Given the description of an element on the screen output the (x, y) to click on. 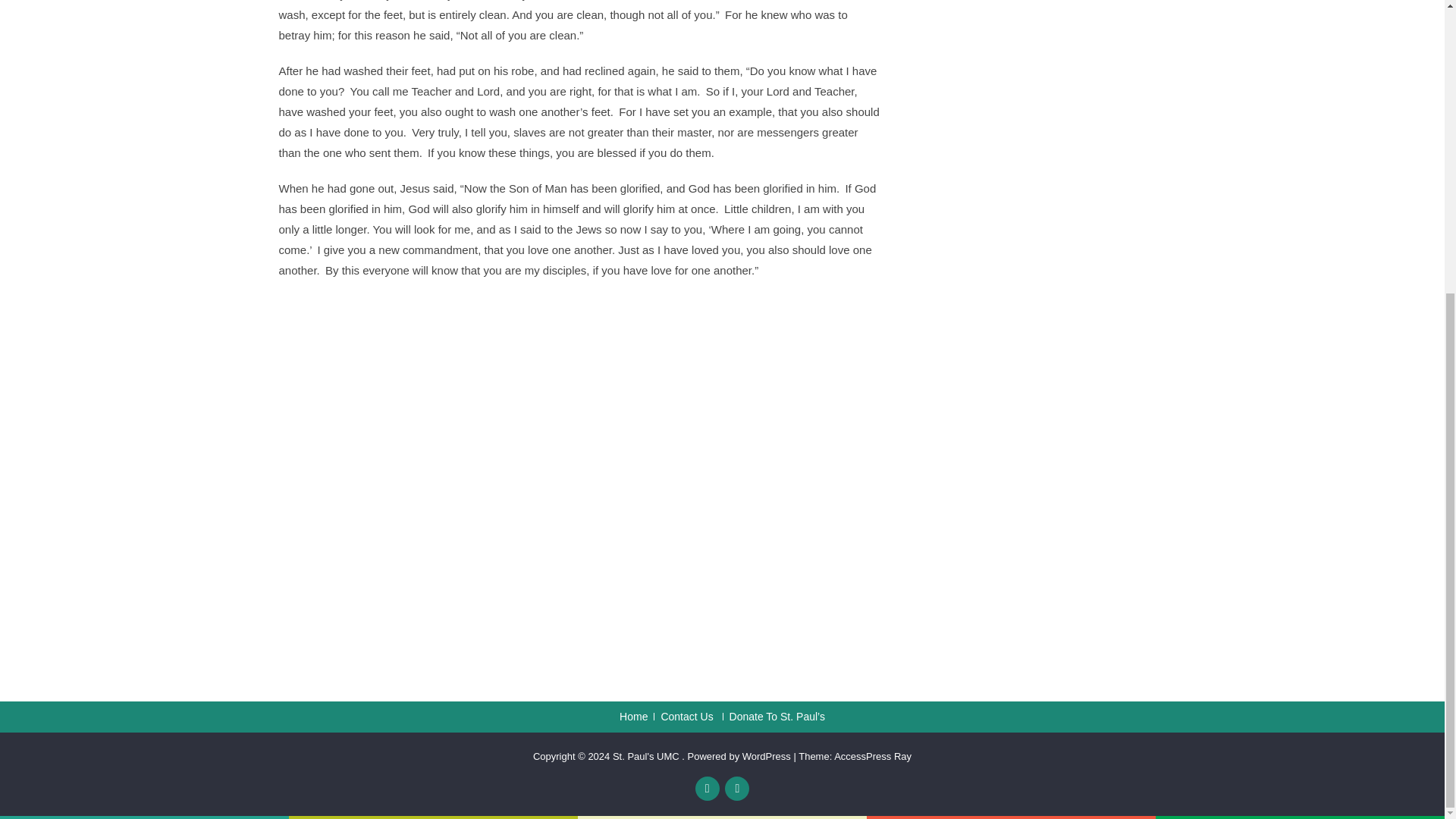
Contact Us (683, 716)
Youtube (737, 788)
Home (633, 716)
AccessPress Ray (872, 756)
St. Paul's UMC (646, 756)
Powered by WordPress (738, 756)
AccessPress Themes (872, 756)
Facebook (707, 788)
